Given the description of an element on the screen output the (x, y) to click on. 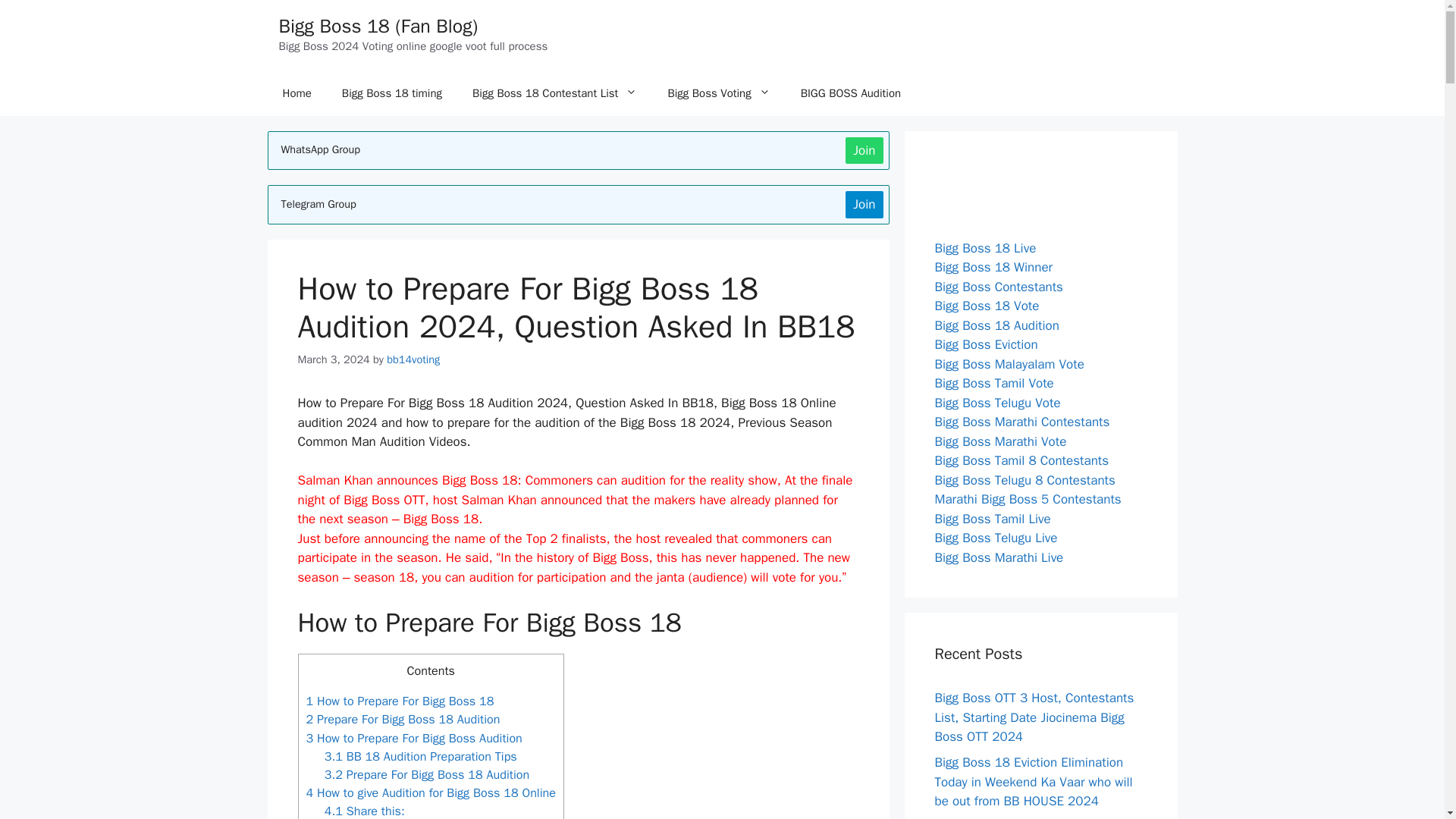
View all posts by bb14voting (413, 358)
3 How to Prepare For Bigg Boss Audition (413, 738)
4.1 Share this: (364, 811)
2 Prepare For Bigg Boss 18 Audition (402, 719)
BIGG BOSS Audition (850, 92)
bb14voting (413, 358)
Home (296, 92)
4 How to give Audition for Bigg Boss 18 Online (430, 792)
3.1 BB 18 Audition Preparation Tips (420, 756)
Bigg Boss 18 timing (391, 92)
